Given the description of an element on the screen output the (x, y) to click on. 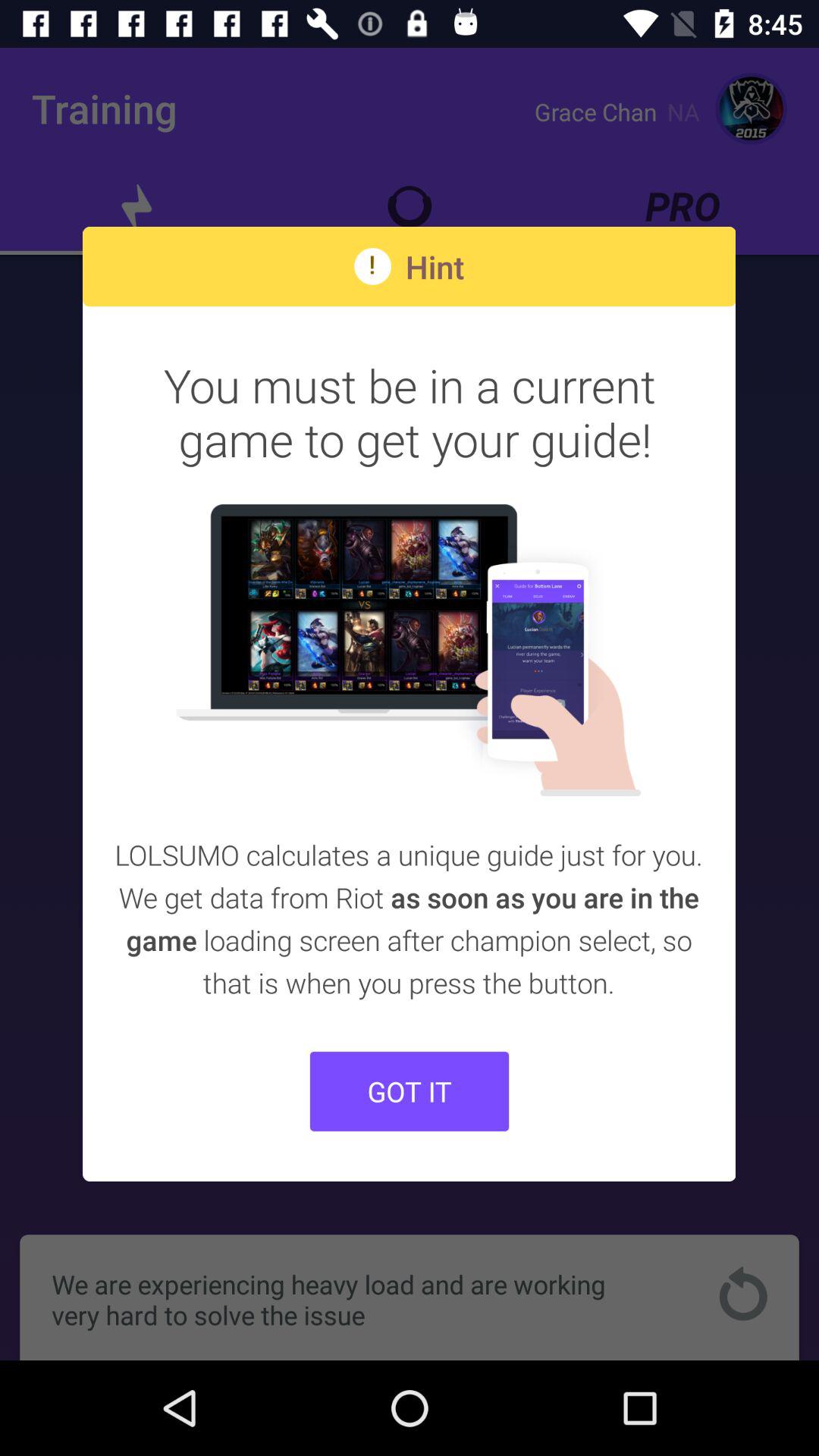
open the got it at the bottom (409, 1091)
